Given the description of an element on the screen output the (x, y) to click on. 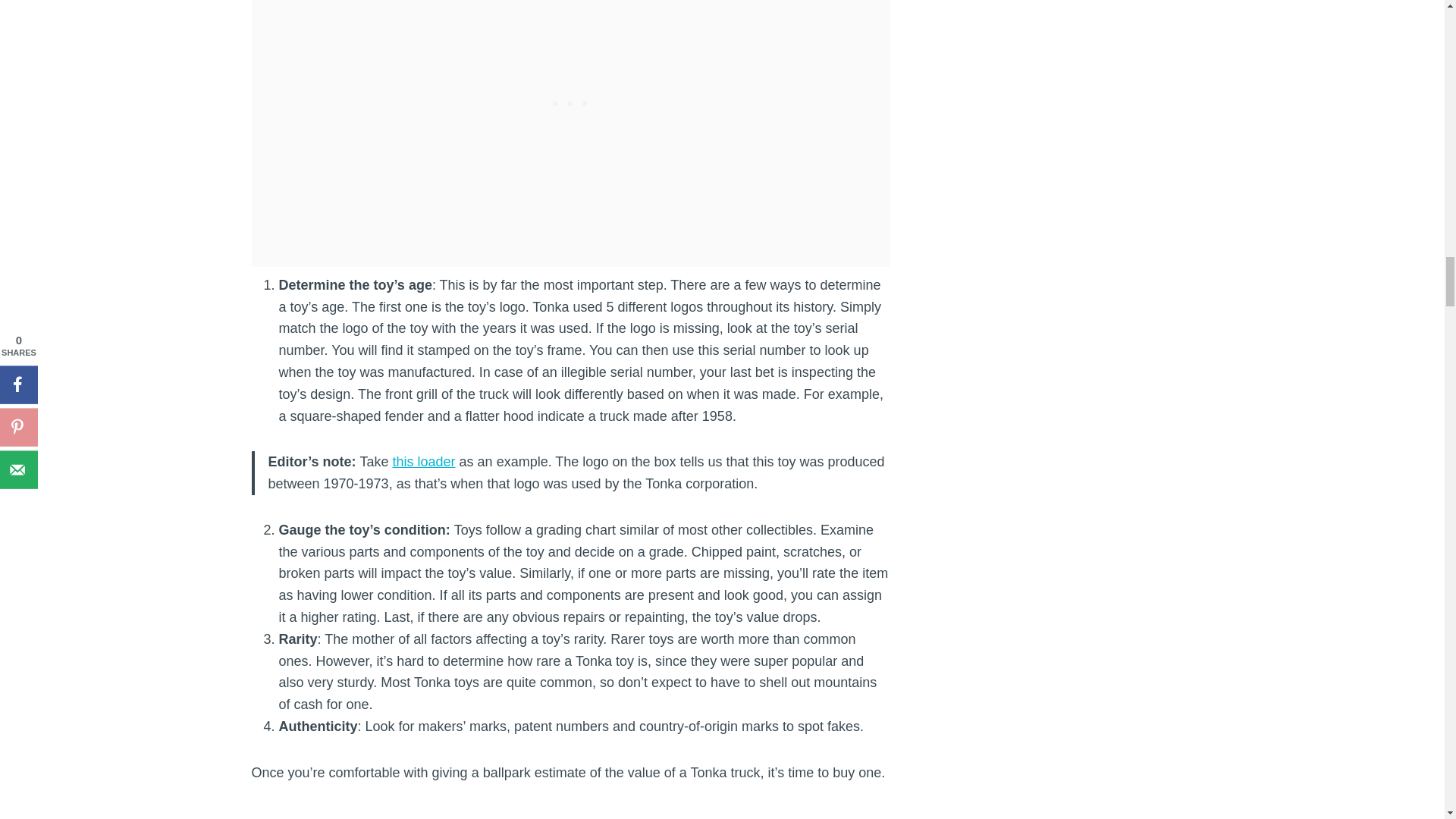
this loader (424, 461)
